Given the description of an element on the screen output the (x, y) to click on. 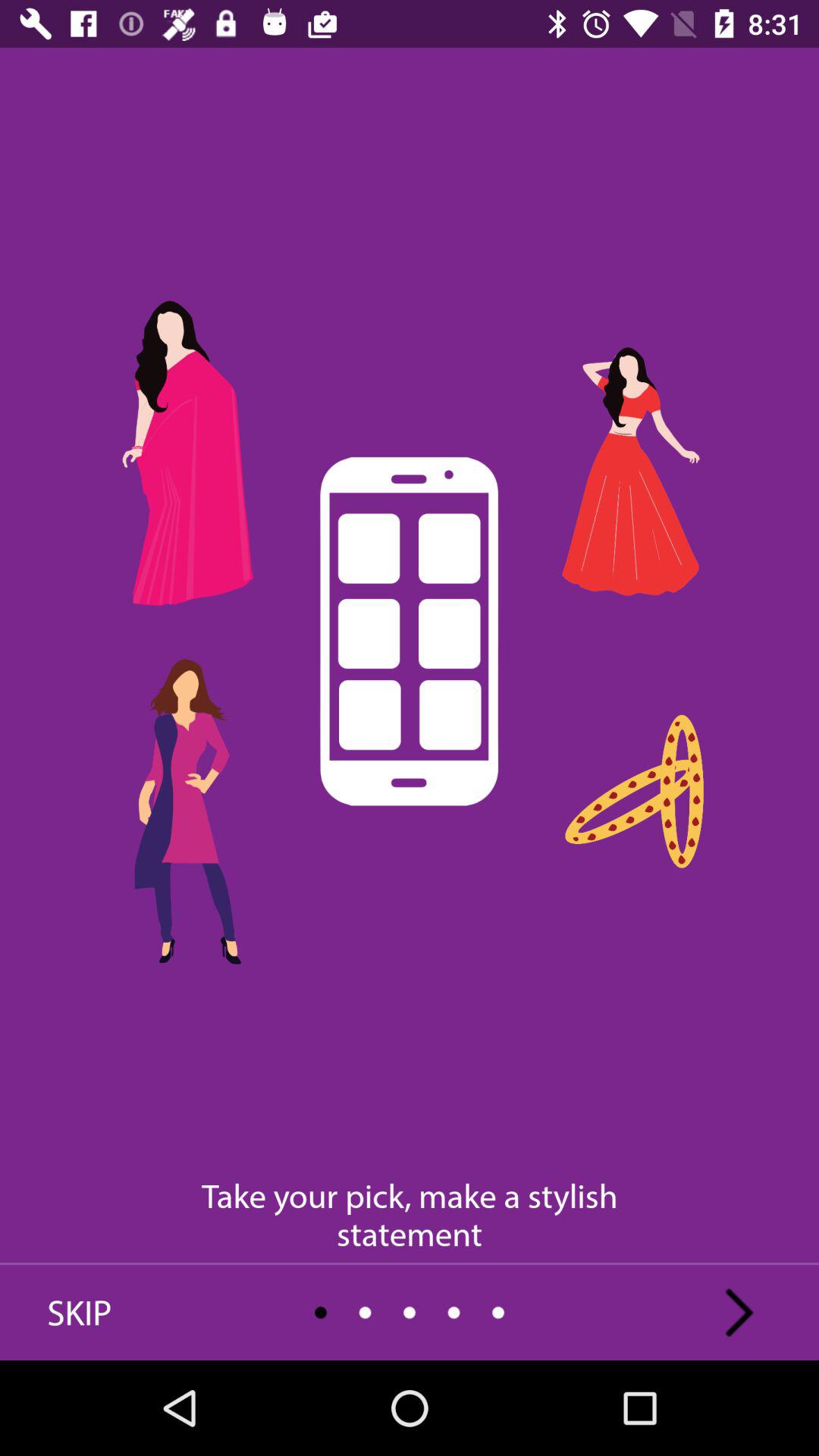
select the item next to take your pick item (739, 1312)
